Given the description of an element on the screen output the (x, y) to click on. 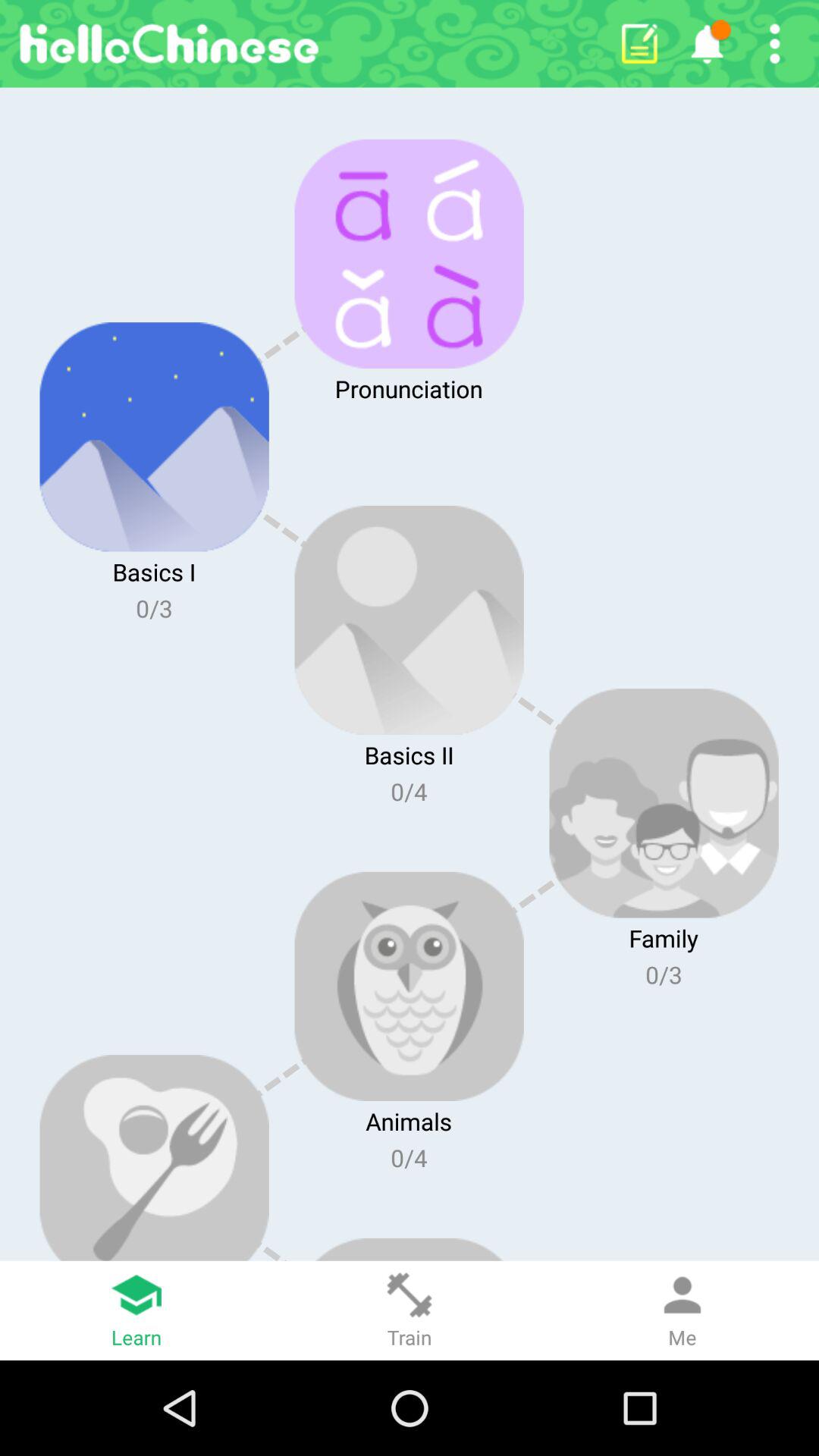
open notepad (639, 43)
